Given the description of an element on the screen output the (x, y) to click on. 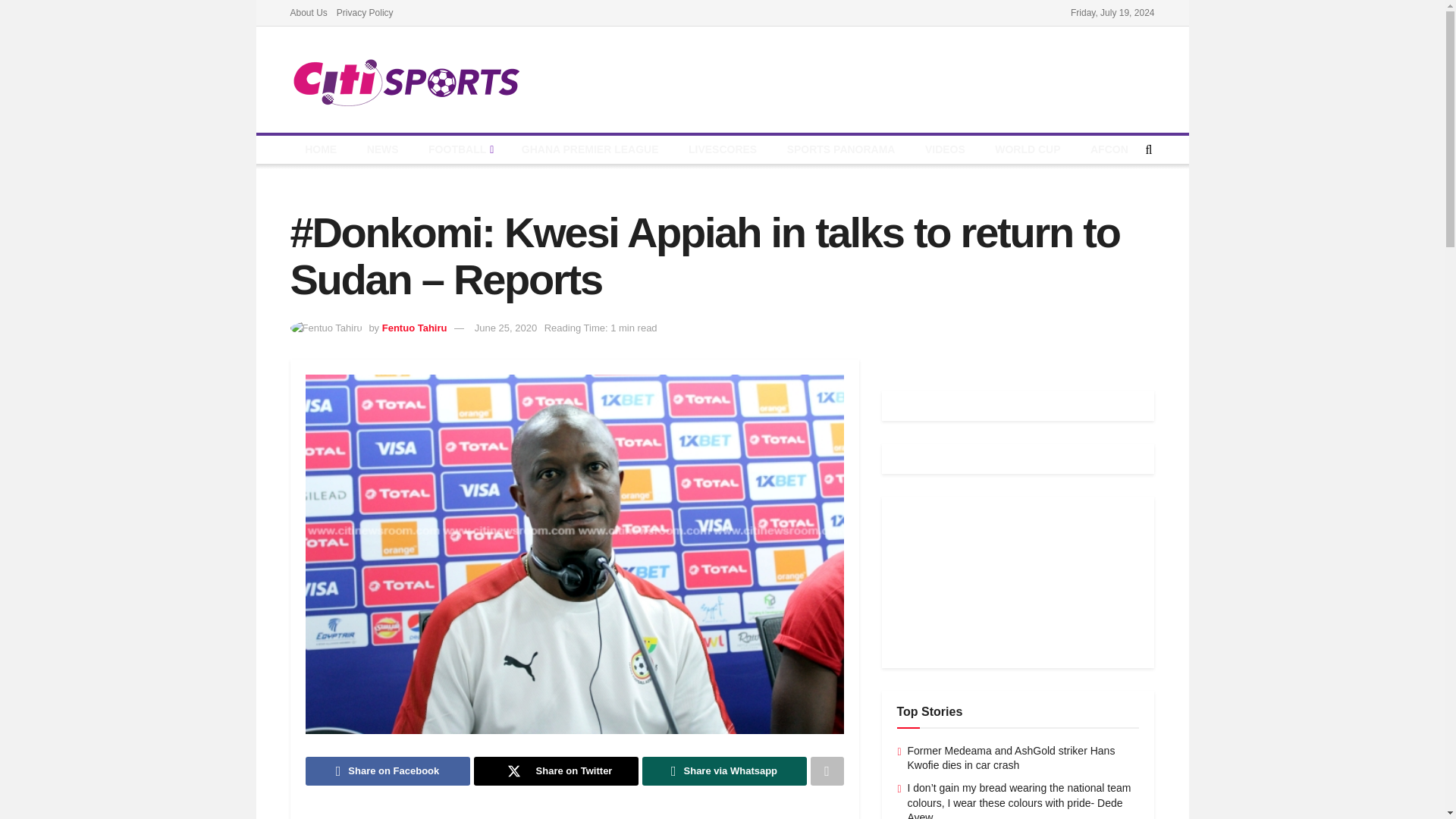
Share via Whatsapp (724, 770)
Fentuo Tahiru (413, 327)
AFCON (1108, 149)
FOOTBALL (459, 149)
LIVESCORES (721, 149)
VIDEOS (944, 149)
HOME (319, 149)
About Us (307, 12)
Share on Twitter (555, 770)
Privacy Policy (364, 12)
June 25, 2020 (505, 327)
GHANA PREMIER LEAGUE (589, 149)
Share on Facebook (386, 770)
NEWS (382, 149)
Advertisement (580, 815)
